Given the description of an element on the screen output the (x, y) to click on. 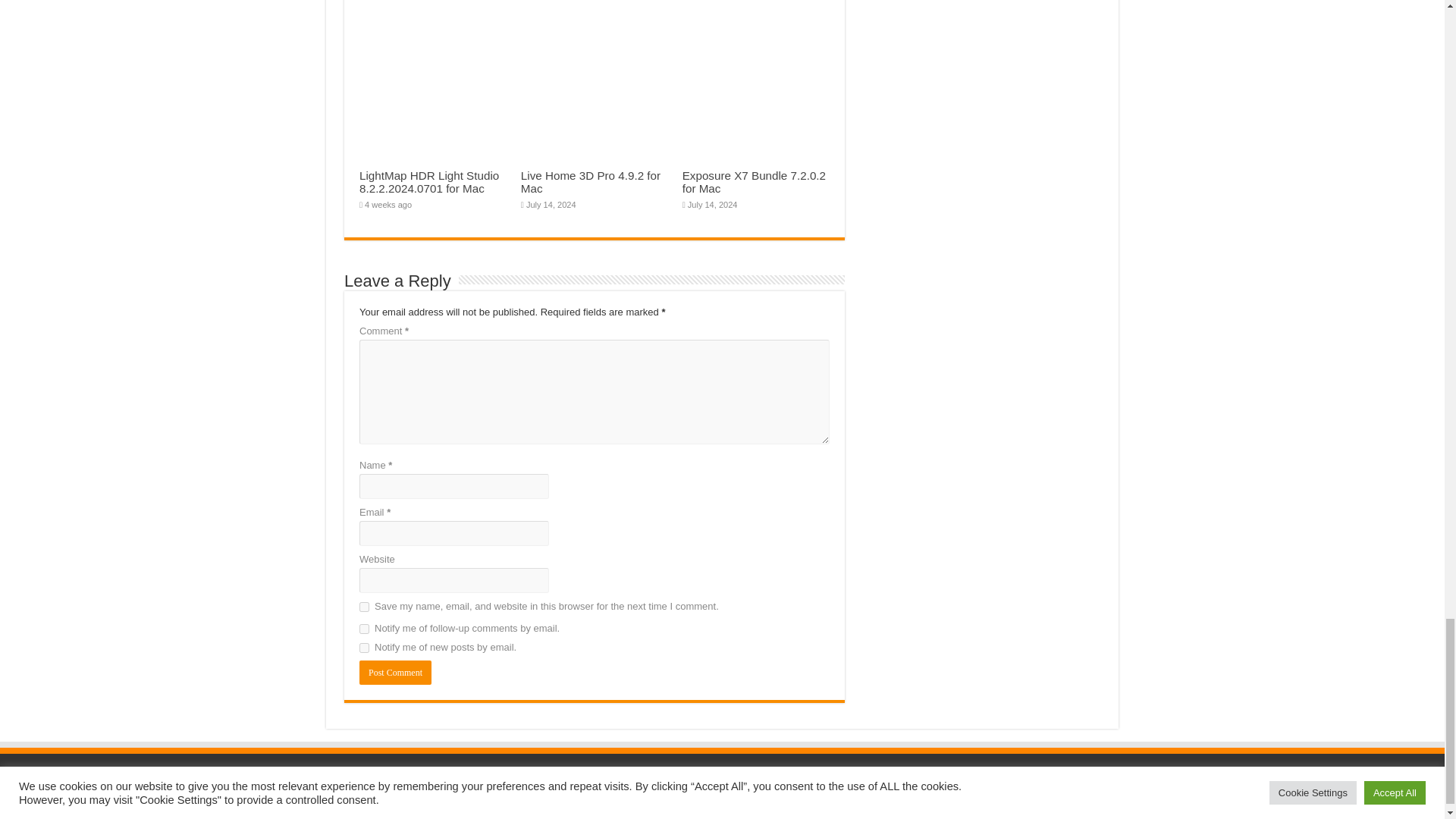
yes (364, 606)
Post Comment (394, 672)
subscribe (364, 647)
subscribe (364, 628)
